Given the description of an element on the screen output the (x, y) to click on. 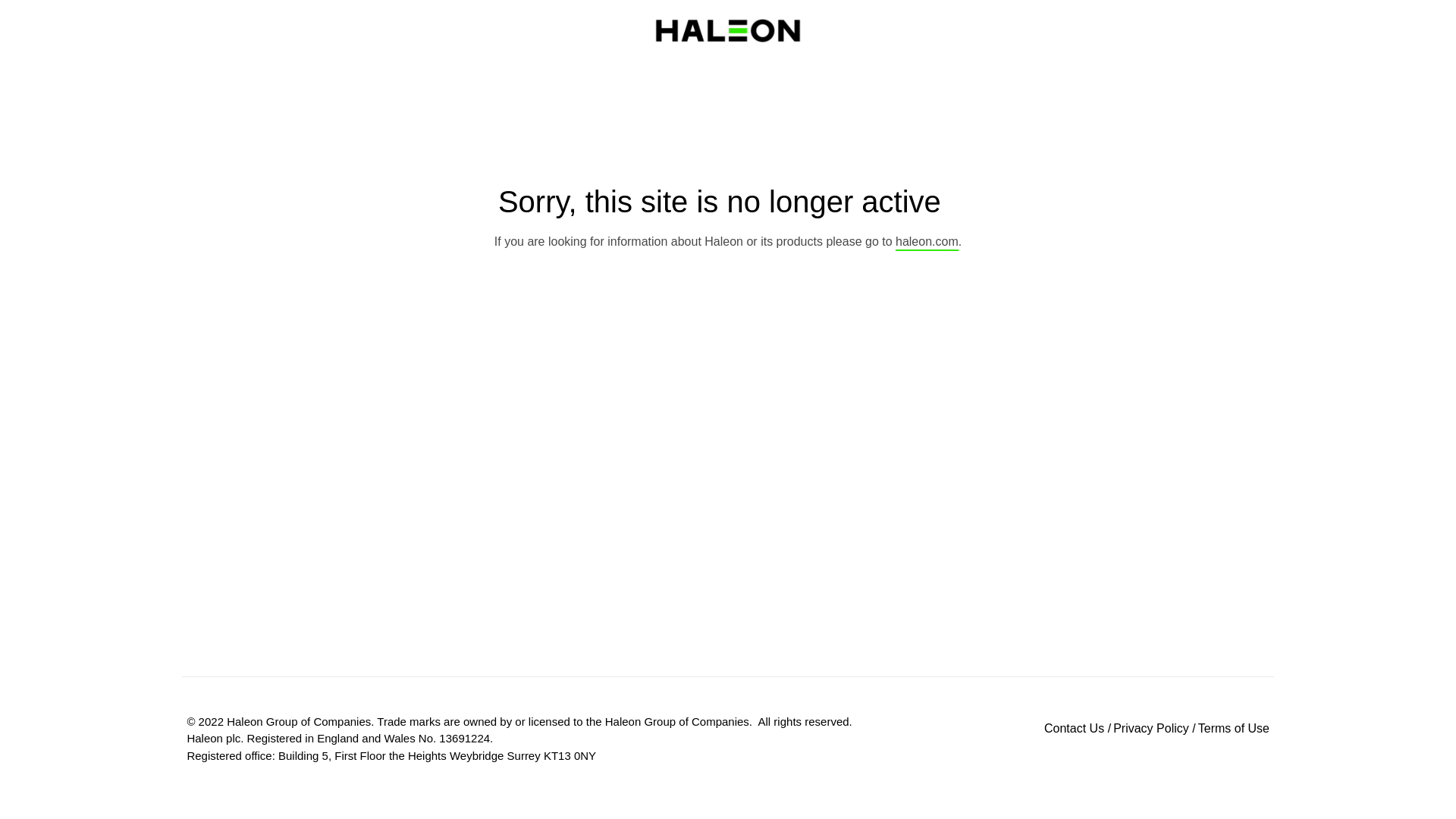
Privacy Policy Element type: text (1150, 727)
haleon.com Element type: text (926, 242)
Contact Us Element type: text (1073, 727)
Terms of Use Element type: text (1233, 727)
Haleon Element type: hover (727, 30)
